Given the description of an element on the screen output the (x, y) to click on. 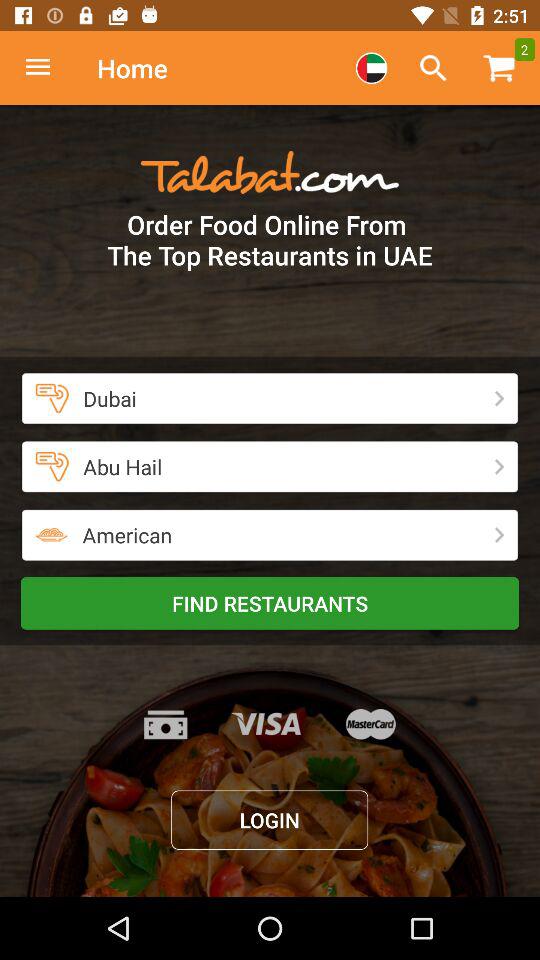
menu button (48, 67)
